Given the description of an element on the screen output the (x, y) to click on. 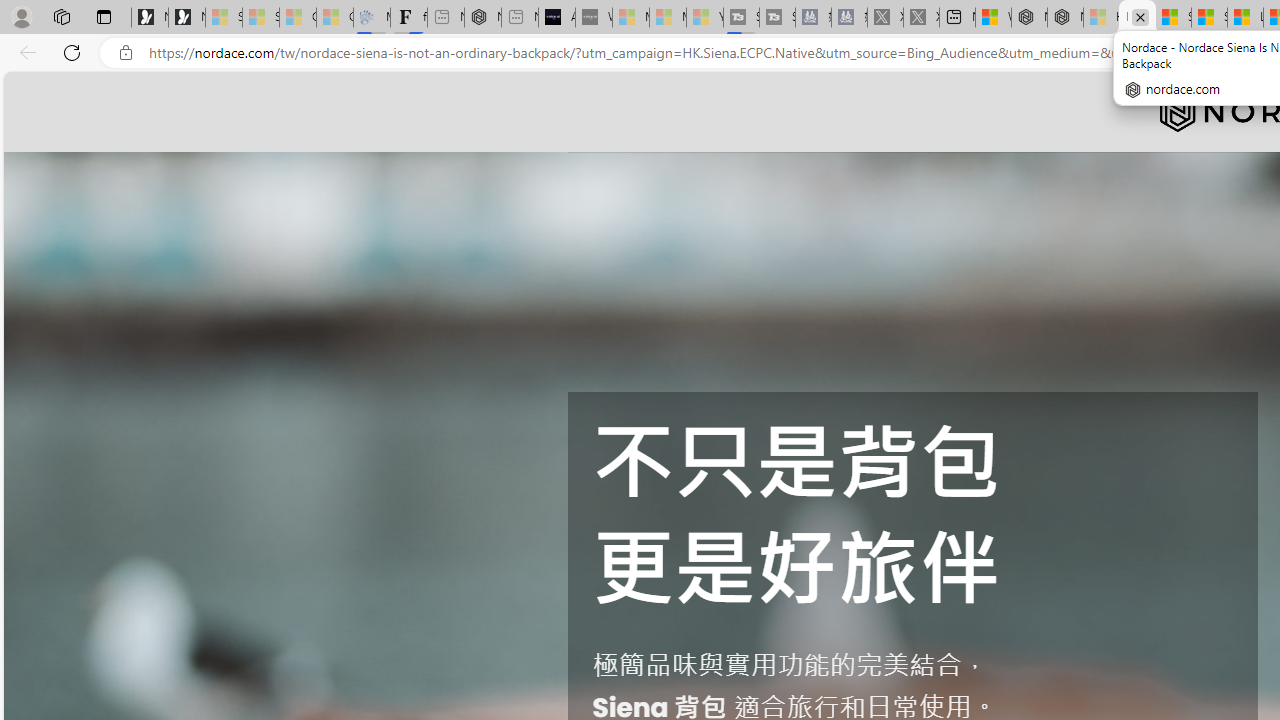
Nordace - #1 Japanese Best-Seller - Siena Smart Backpack (482, 17)
New tab - Sleeping (519, 17)
X - Sleeping (921, 17)
Microsoft Start - Sleeping (668, 17)
Streaming Coverage | T3 - Sleeping (741, 17)
